Given the description of an element on the screen output the (x, y) to click on. 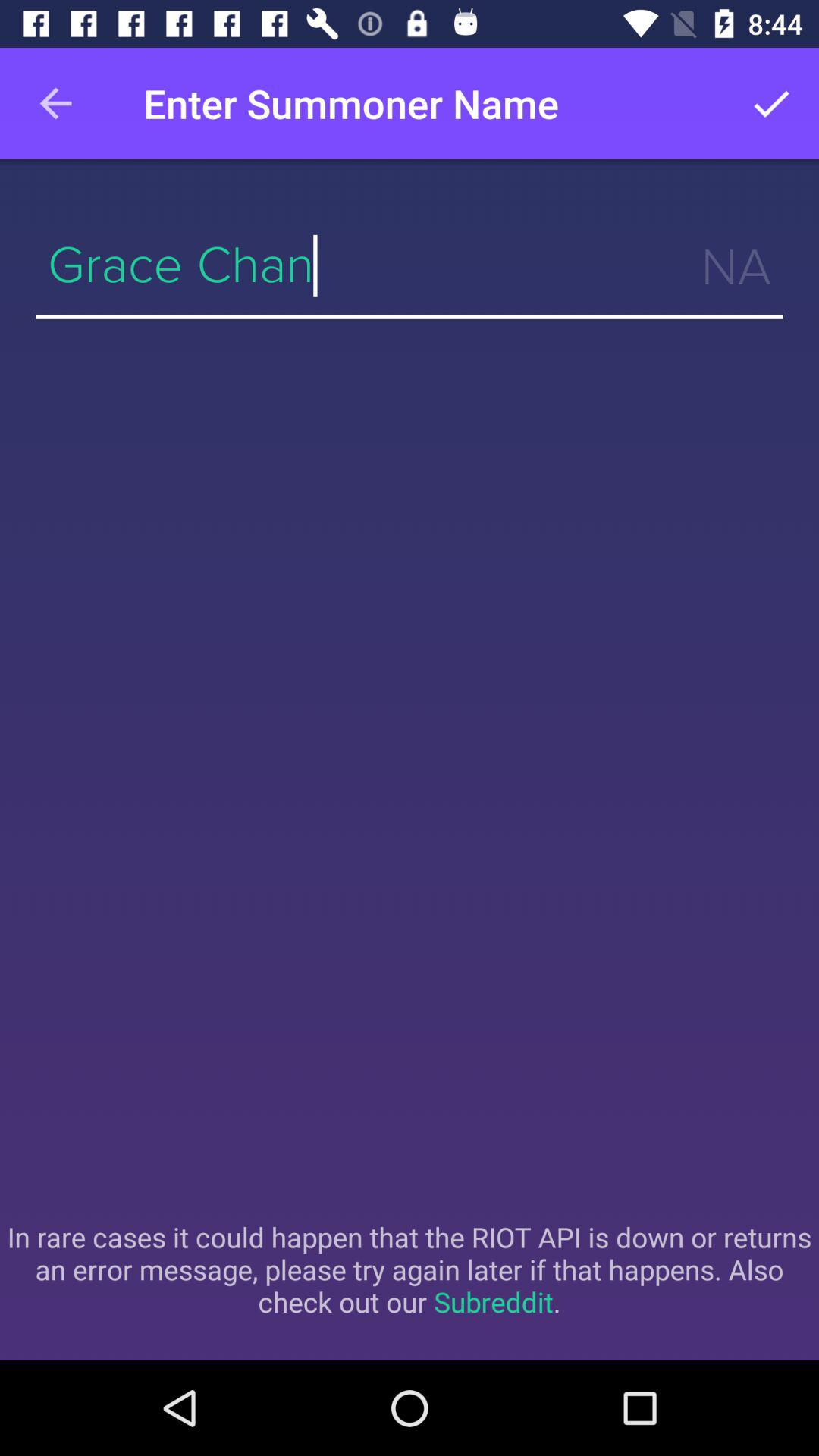
press the item next to the enter summoner name (55, 103)
